Given the description of an element on the screen output the (x, y) to click on. 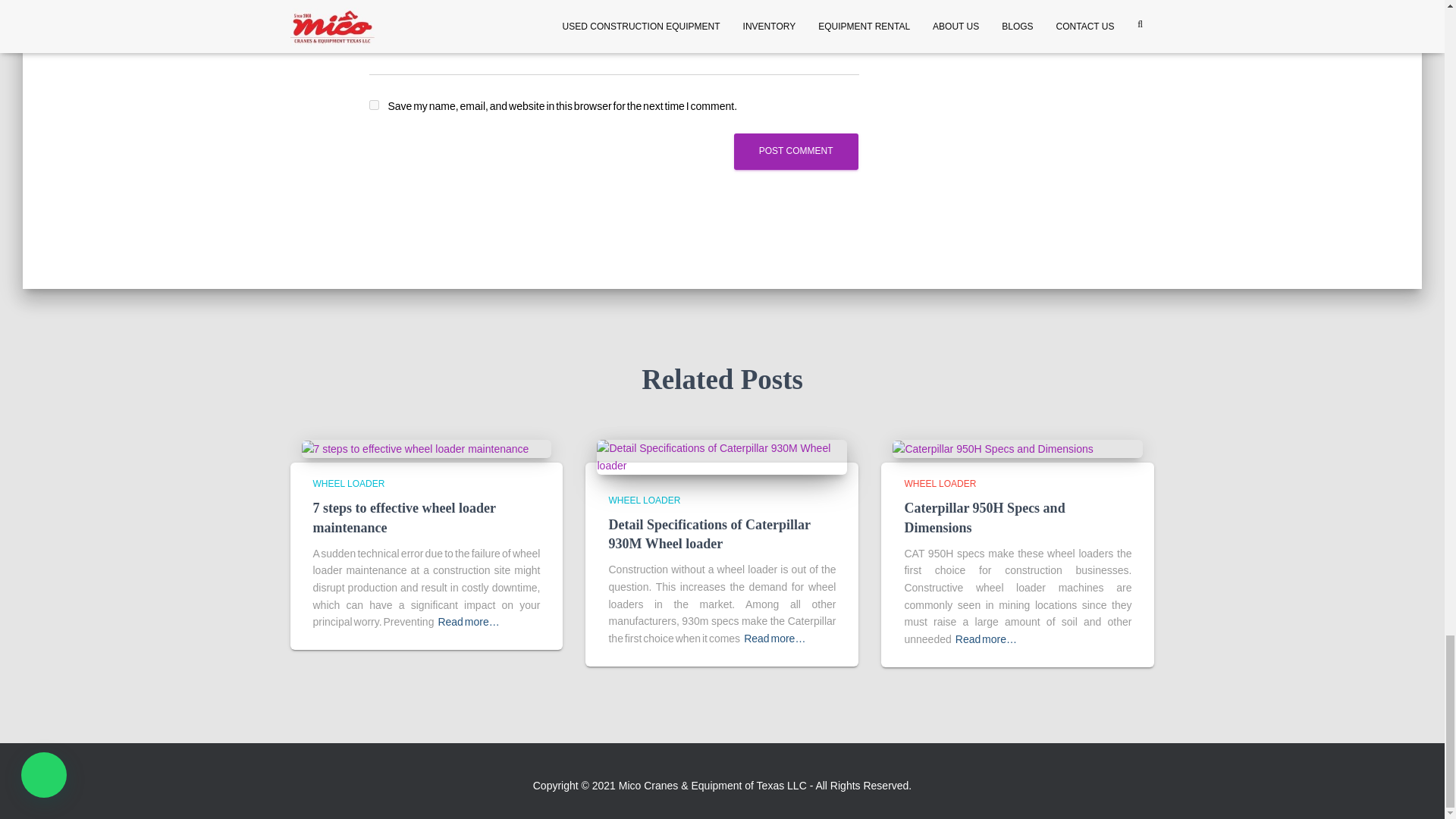
7 steps to effective wheel loader maintenance (404, 517)
View all posts in Wheel Loader (939, 483)
Post Comment (796, 150)
Detail Specifications of Caterpillar 930M Wheel loader (721, 456)
Post Comment (796, 150)
View all posts in Wheel Loader (348, 483)
7 steps to effective wheel loader maintenance (415, 448)
Detail Specifications of Caterpillar 930M Wheel loader (708, 533)
View all posts in Wheel Loader (643, 500)
yes (373, 104)
Caterpillar 950H Specs and Dimensions (992, 448)
